Given the description of an element on the screen output the (x, y) to click on. 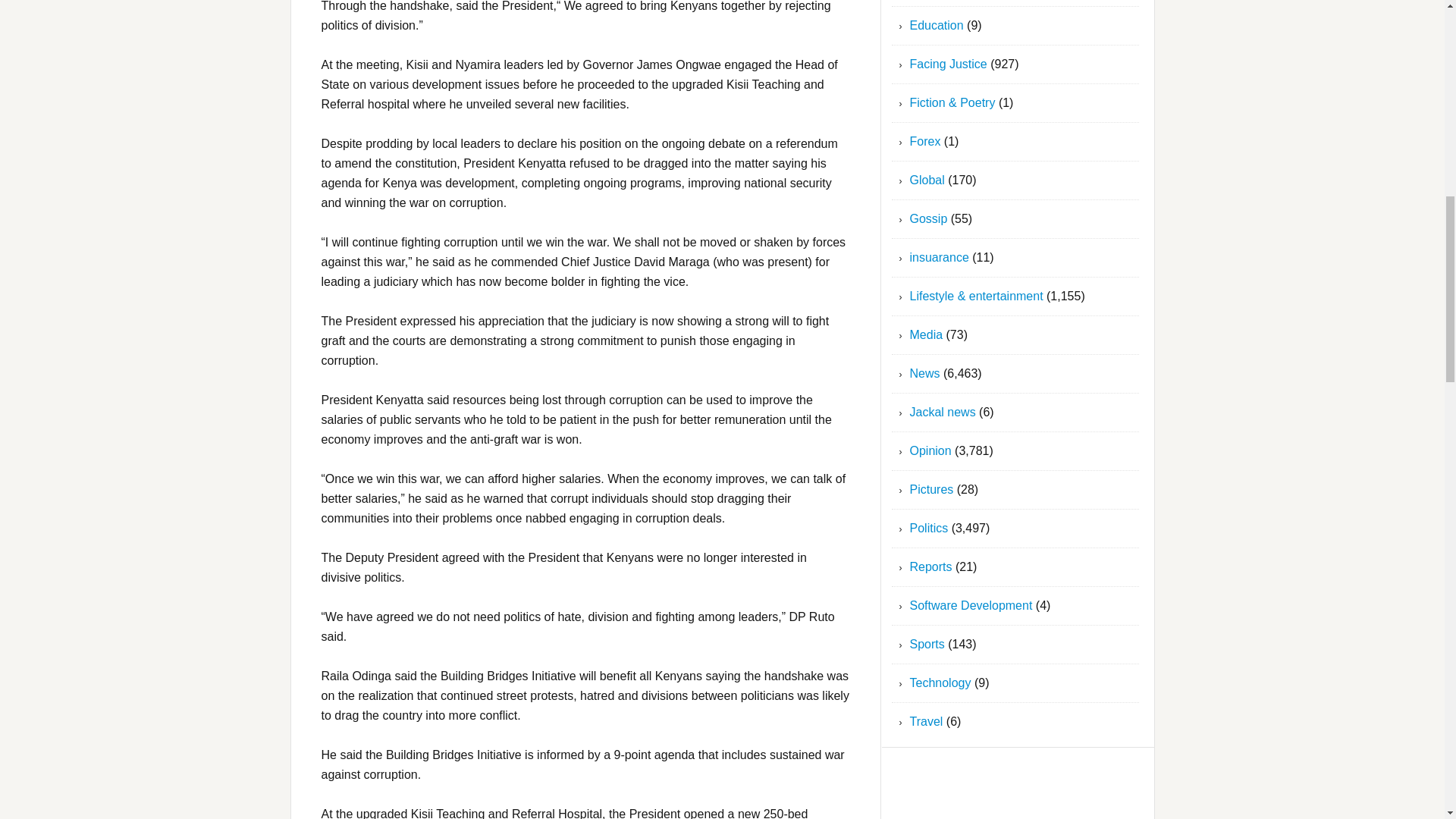
Facing Justice (948, 63)
Opinion (931, 450)
insuarance (939, 256)
Pictures (931, 489)
Forex (925, 141)
Education (936, 24)
Gossip (928, 218)
Global (927, 179)
Media (926, 334)
Jackal news (942, 411)
